Given the description of an element on the screen output the (x, y) to click on. 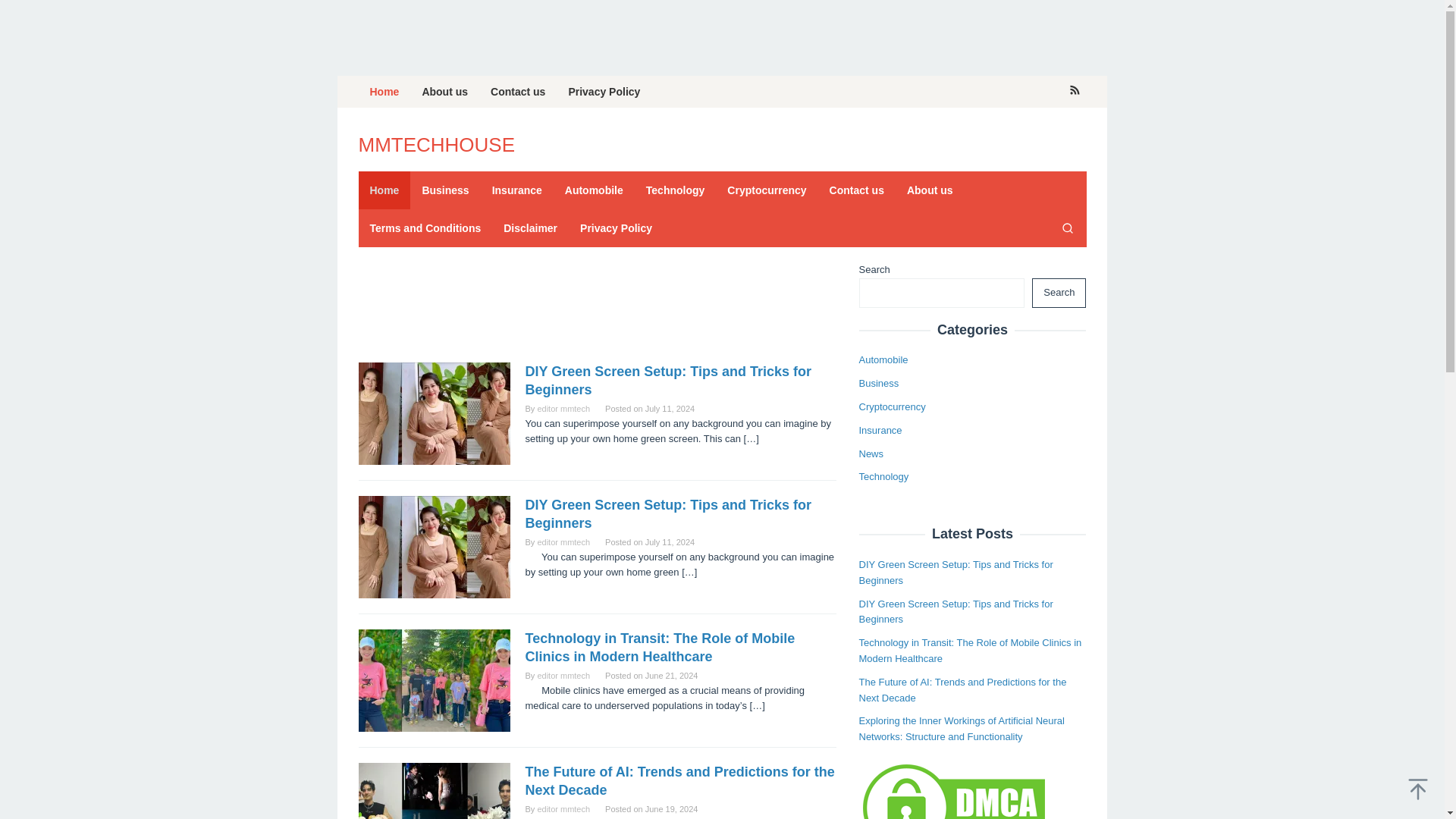
collage (433, 413)
Privacy Policy (603, 91)
MMTECHHOUSE (436, 144)
Insurance (516, 190)
Terms and Conditions (425, 228)
editor mmtech (563, 675)
Contact us (517, 91)
About us (444, 91)
editor mmtech (563, 408)
collage (433, 790)
About us (929, 190)
Home (384, 91)
